Given the description of an element on the screen output the (x, y) to click on. 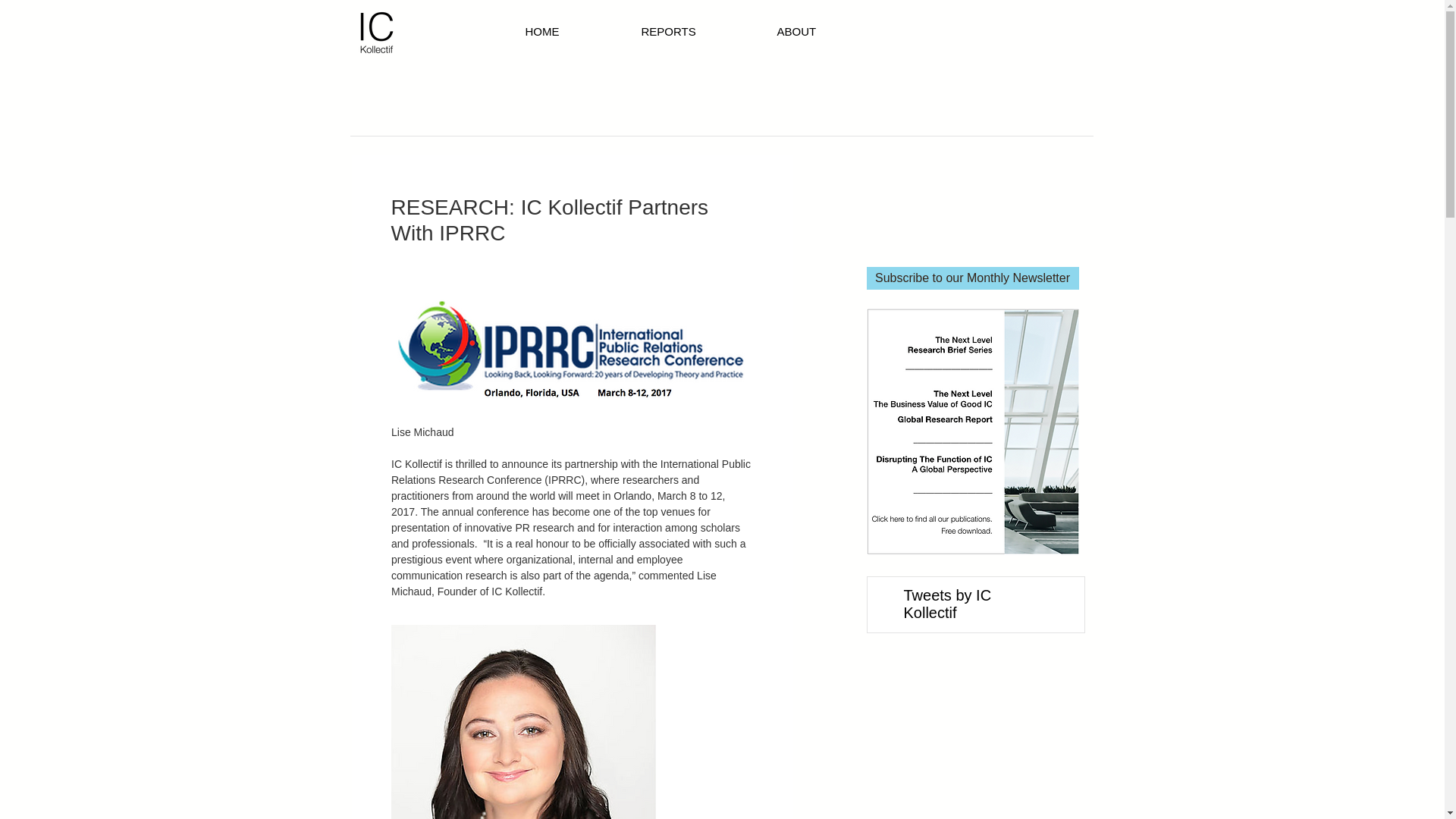
Tweets by IC Kollectif (947, 603)
HOME (574, 31)
REPORTS (701, 31)
Subscribe to our Monthly Newsletter (972, 277)
